Given the description of an element on the screen output the (x, y) to click on. 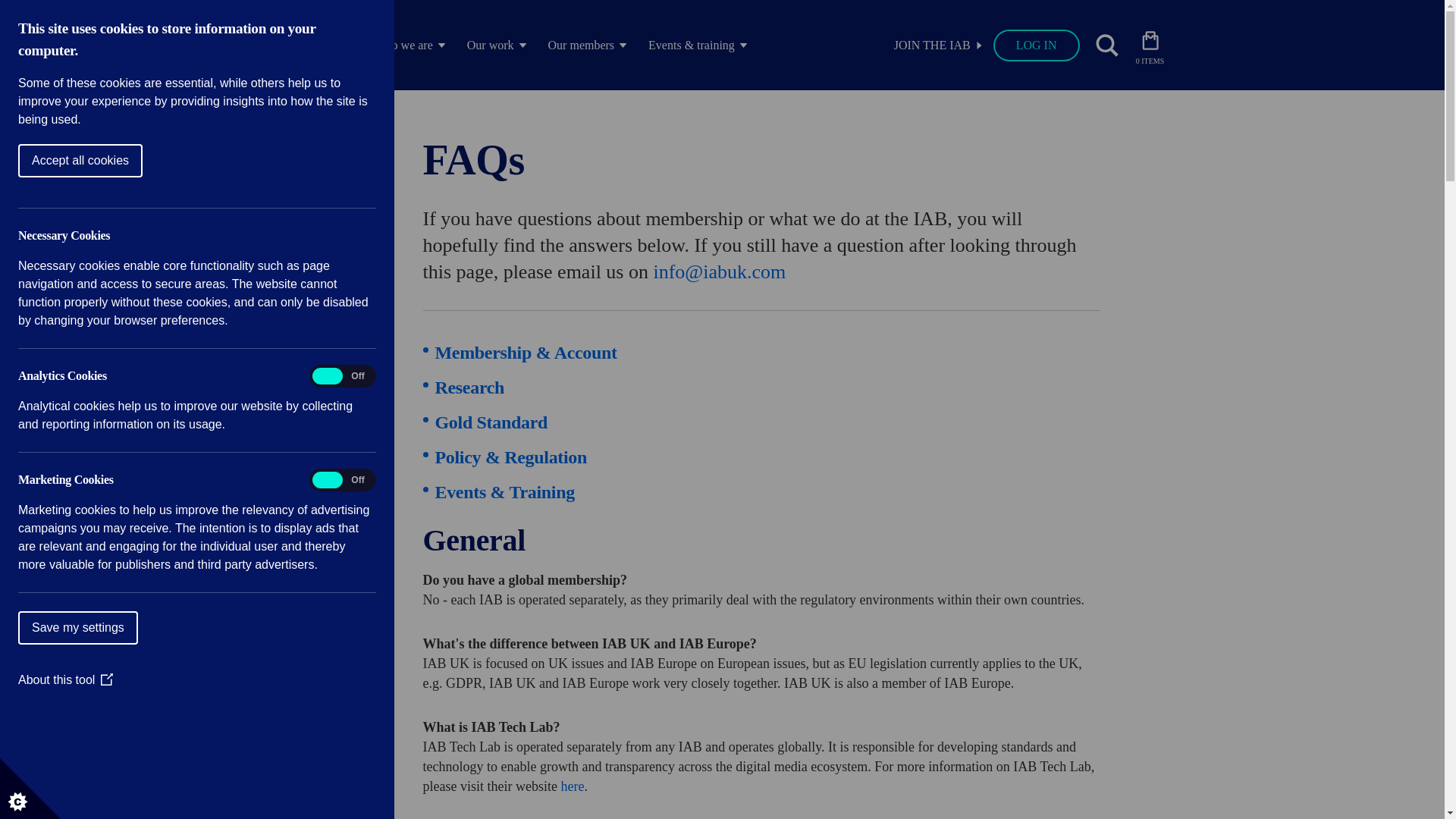
Home (304, 44)
